Given the description of an element on the screen output the (x, y) to click on. 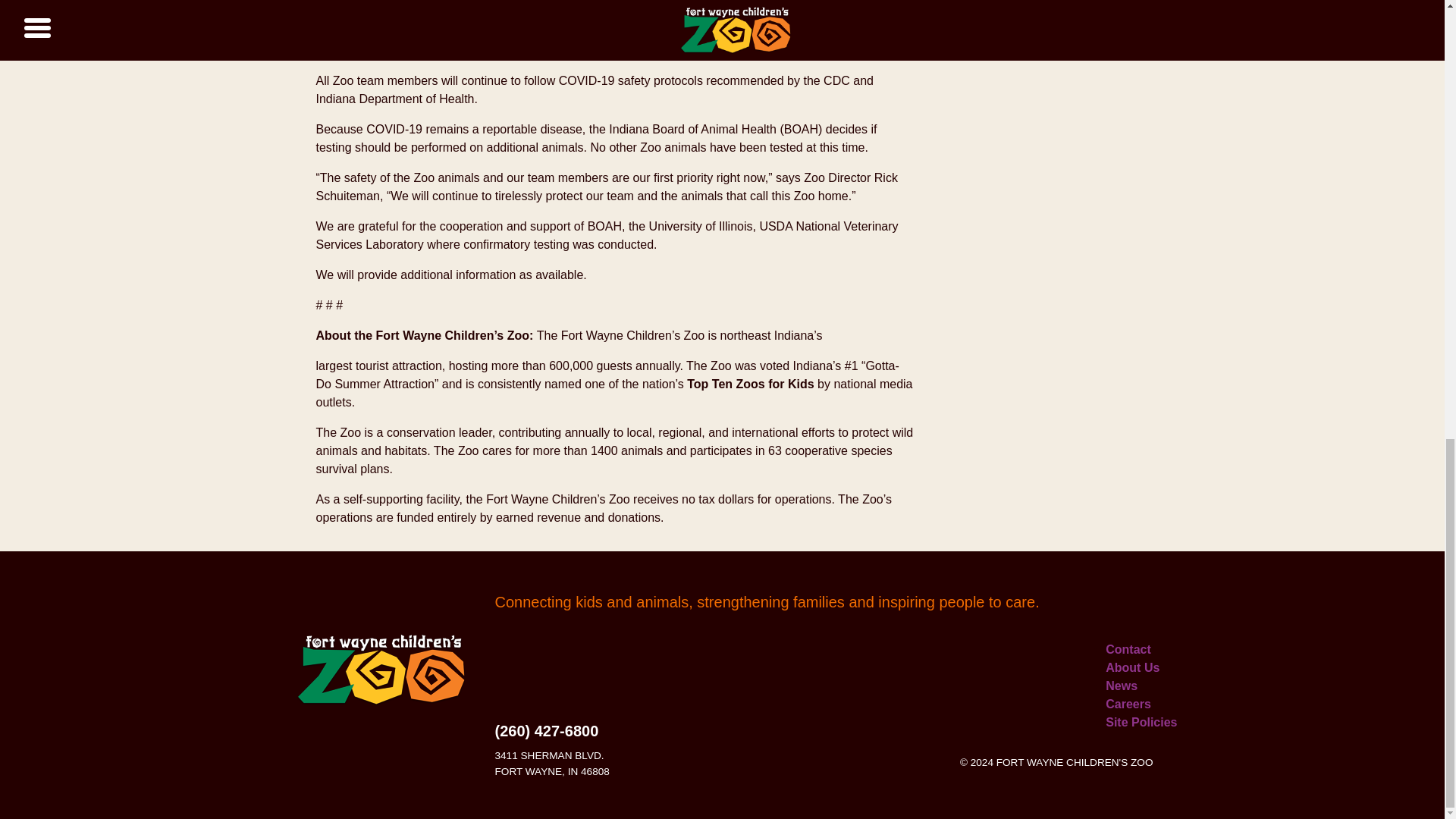
Contact (1128, 649)
Careers (1128, 703)
Go to home page (380, 669)
Site Policies (1140, 721)
About Us (1131, 667)
News (1121, 685)
